Given the description of an element on the screen output the (x, y) to click on. 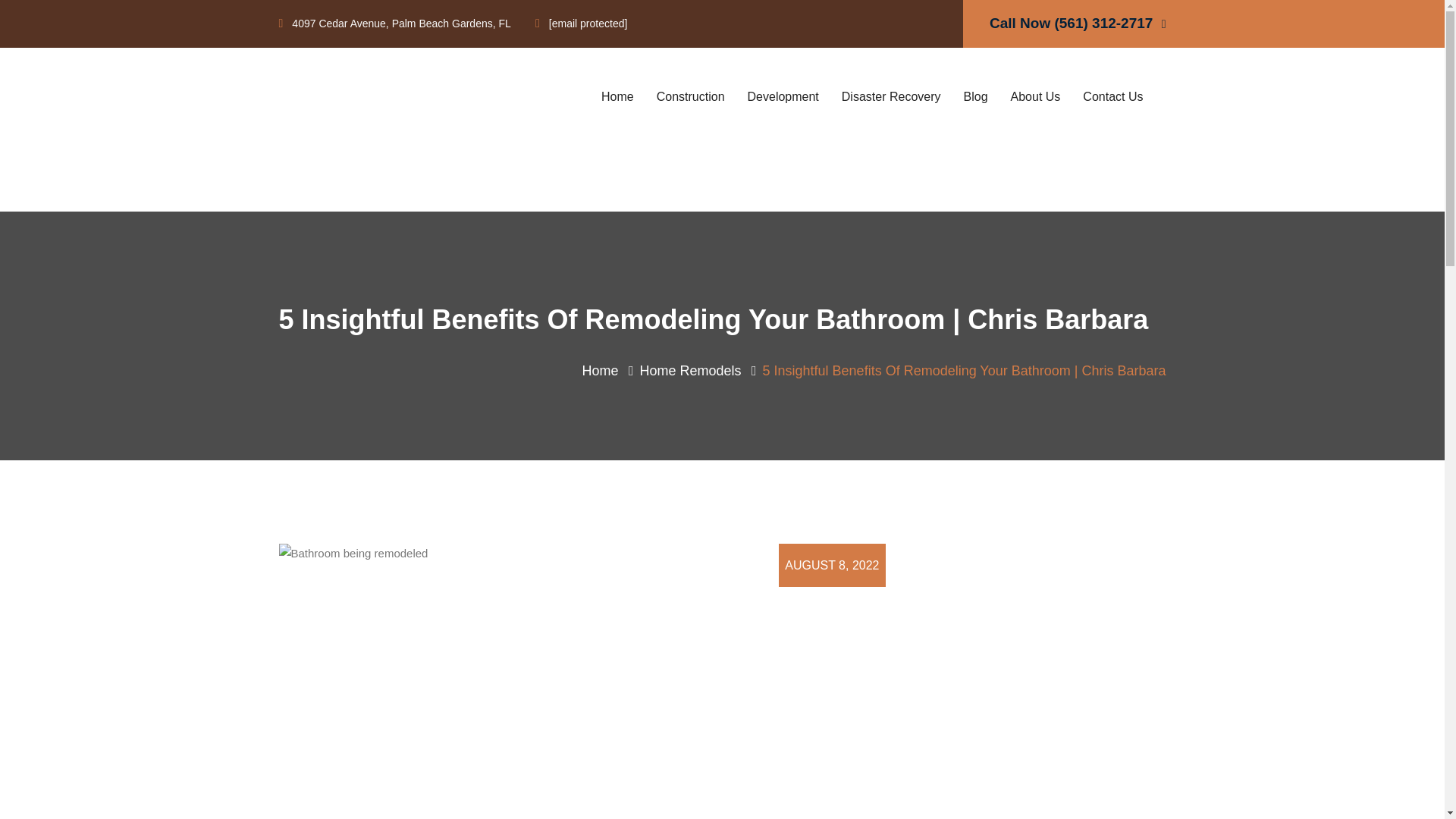
Disaster Recovery (890, 95)
4097 Cedar Avenue, Palm Beach Gardens, FL (395, 23)
Disaster Recovery (890, 95)
